Given the description of an element on the screen output the (x, y) to click on. 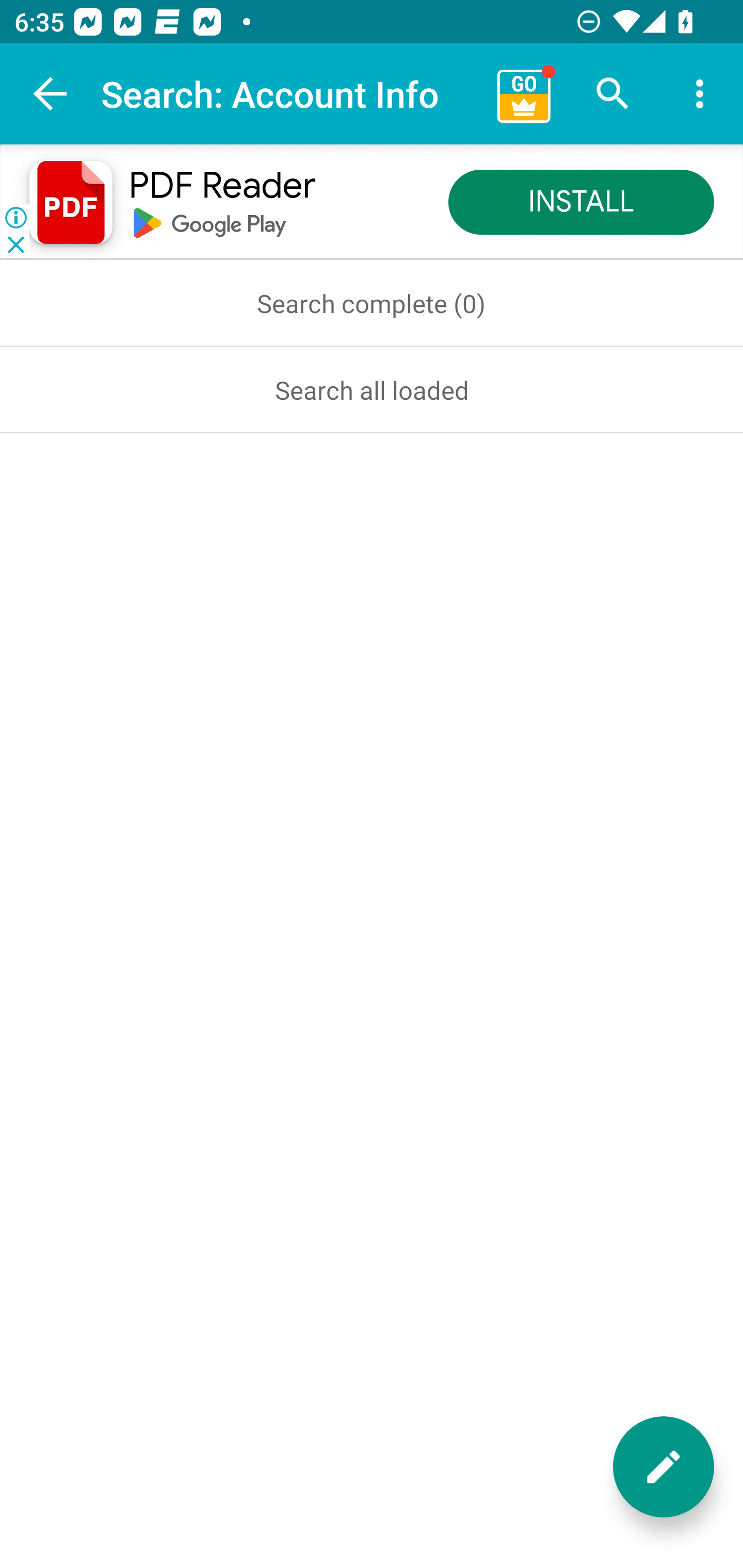
Navigate up (50, 93)
Search (612, 93)
More options (699, 93)
Search complete (0) (371, 303)
Search all loaded (371, 389)
New message (663, 1466)
